Given the description of an element on the screen output the (x, y) to click on. 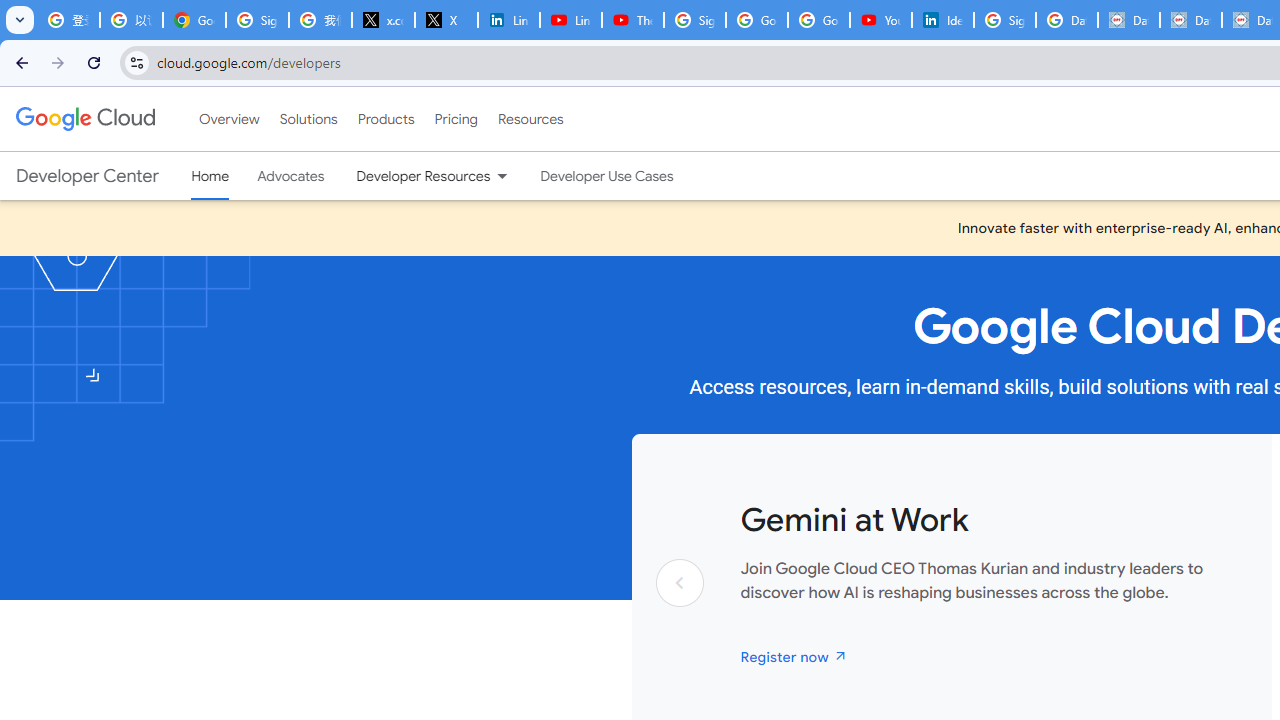
Home, selected (210, 175)
Resources (530, 119)
Developer Use Cases (607, 175)
Data Privacy Framework (1128, 20)
Google Cloud (84, 118)
Pricing (455, 119)
Products (385, 119)
